Given the description of an element on the screen output the (x, y) to click on. 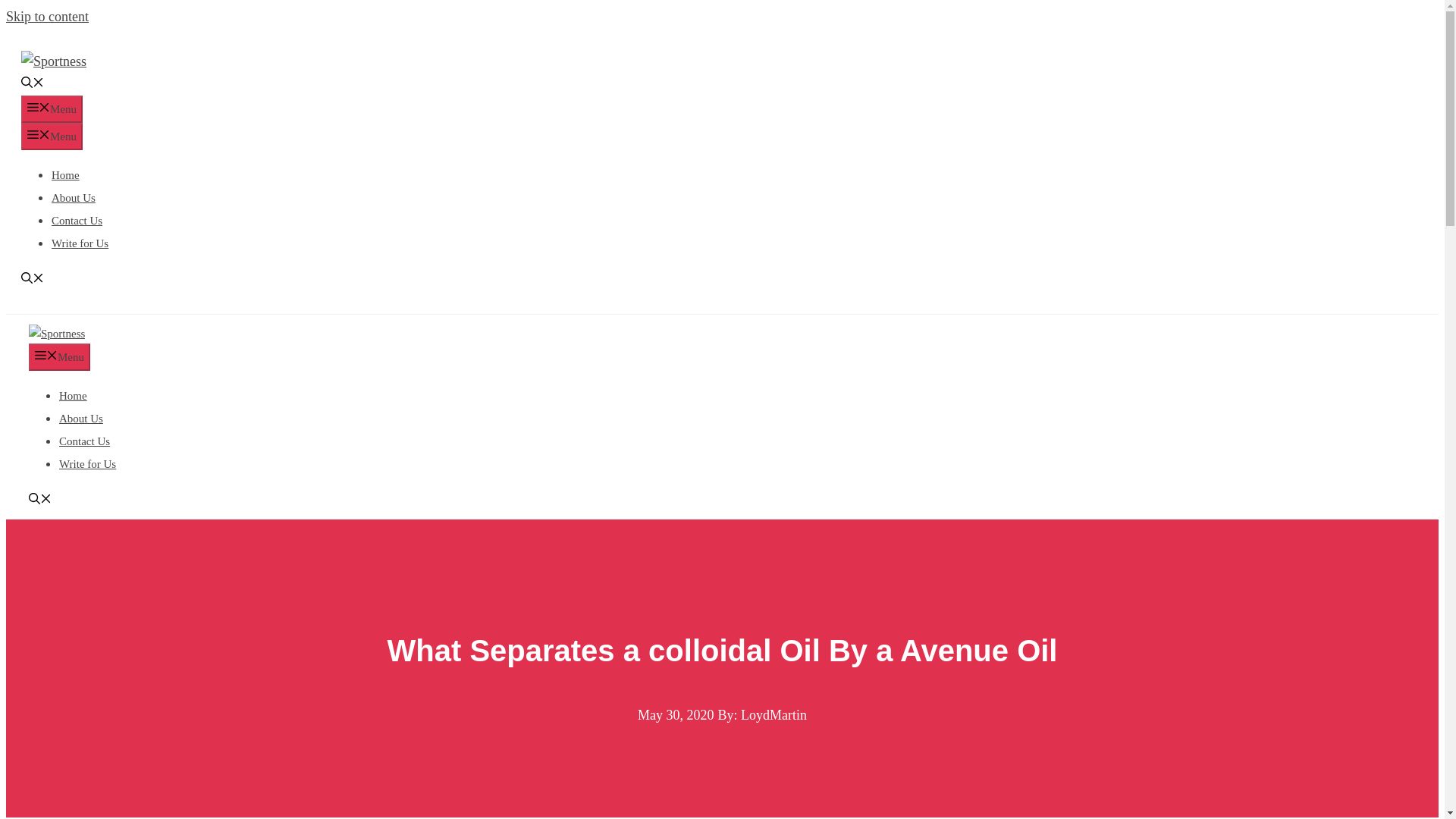
About Us (81, 418)
Contact Us (84, 440)
Skip to content (46, 16)
Menu (51, 135)
Menu (51, 108)
Skip to content (46, 16)
Contact Us (75, 220)
Write for Us (87, 463)
Home (73, 395)
Sportness (56, 333)
About Us (73, 197)
Menu (59, 357)
Home (65, 174)
Write for Us (78, 243)
